Given the description of an element on the screen output the (x, y) to click on. 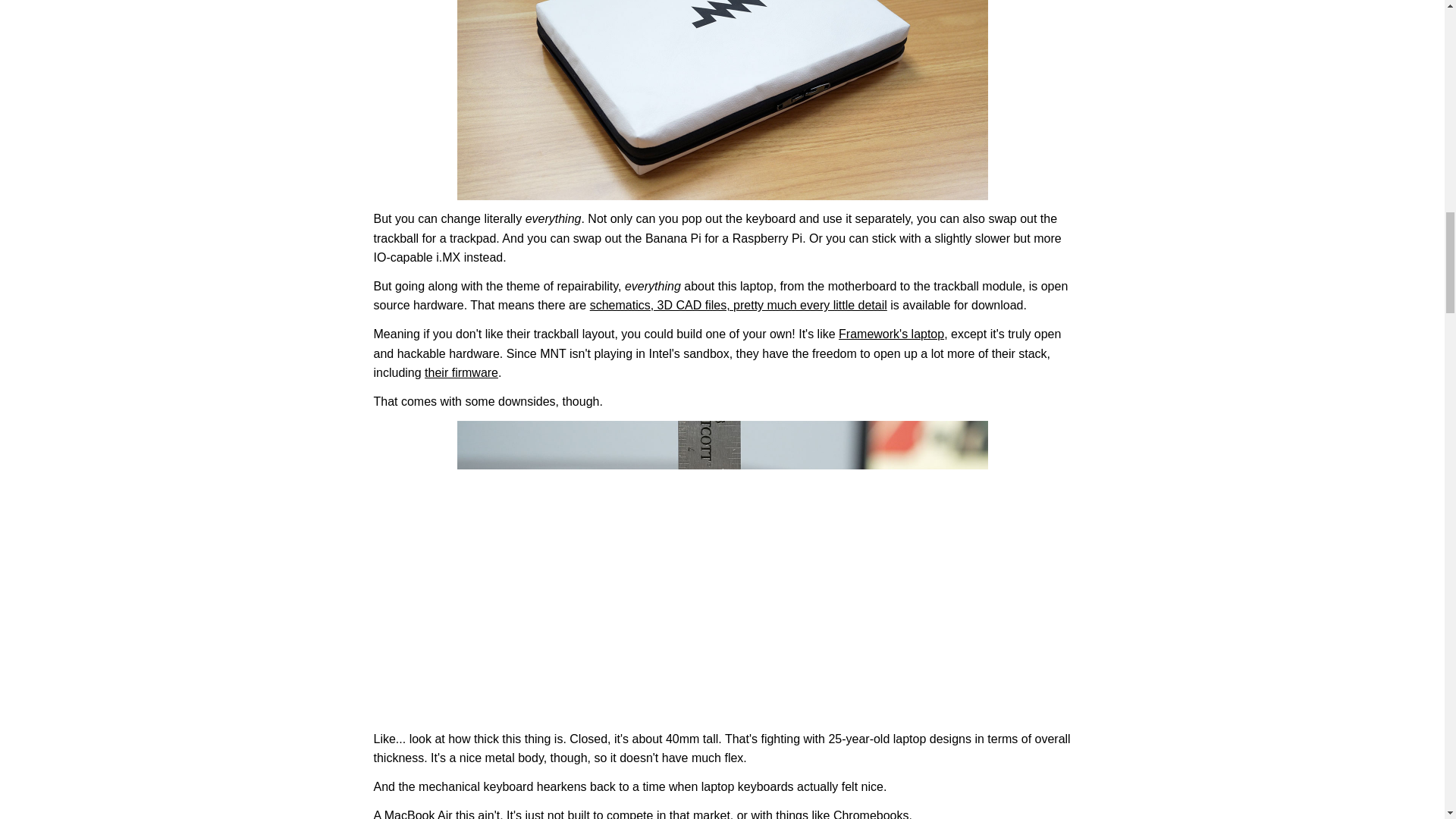
their firmware (461, 372)
Framework's laptop (890, 333)
schematics, 3D CAD files, pretty much every little detail (737, 305)
